Given the description of an element on the screen output the (x, y) to click on. 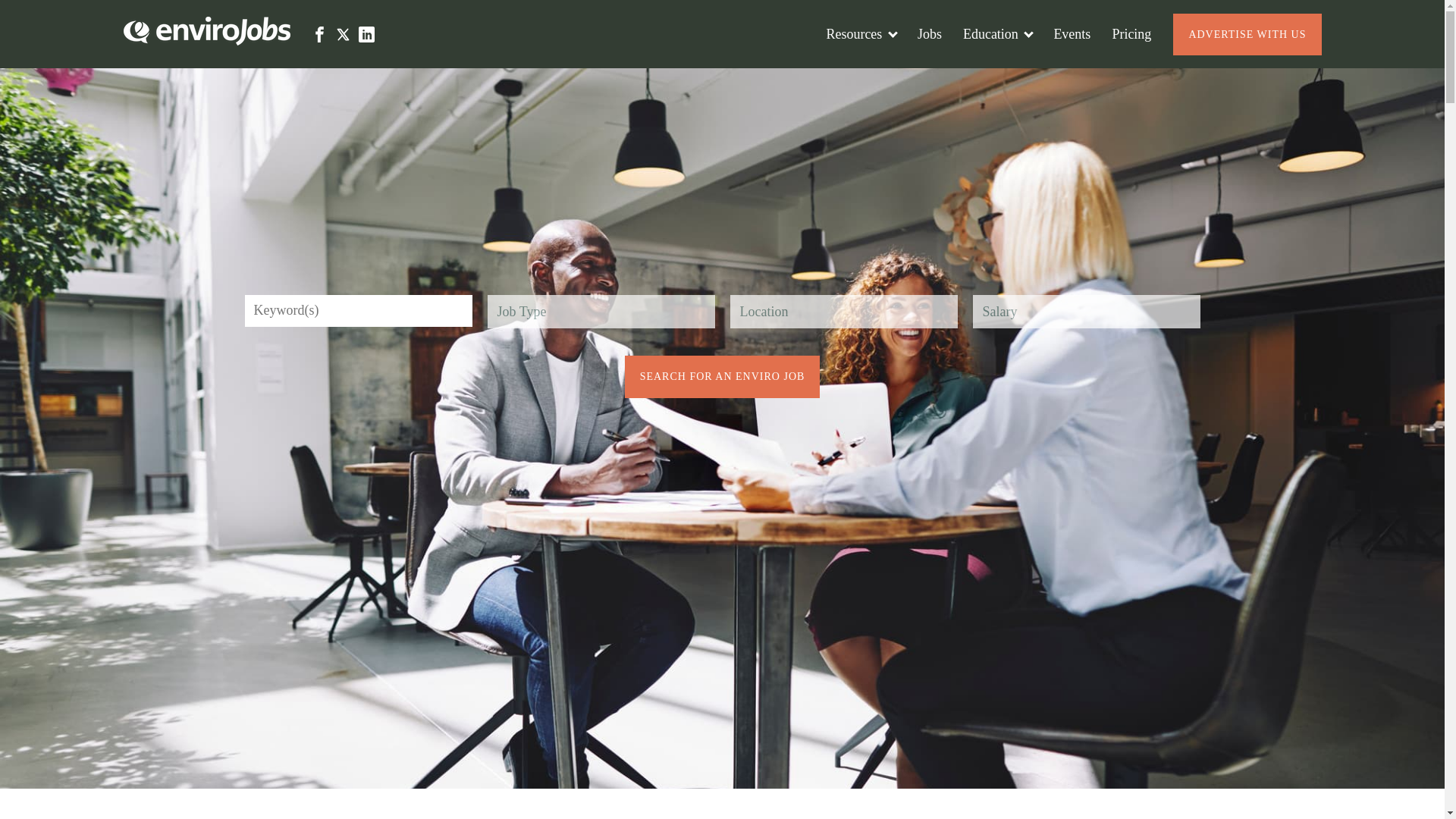
Short Courses (1001, 80)
Universities (995, 80)
Resources (860, 33)
How To Write A Resume Program (919, 80)
SEARCH FOR AN ENVIRO JOB (722, 376)
Online Courses (1005, 80)
Free Career Help (872, 80)
ADVERTISE WITH US (1246, 34)
Education (997, 33)
Pricing (1130, 33)
Environmental Job Resources (906, 80)
